Given the description of an element on the screen output the (x, y) to click on. 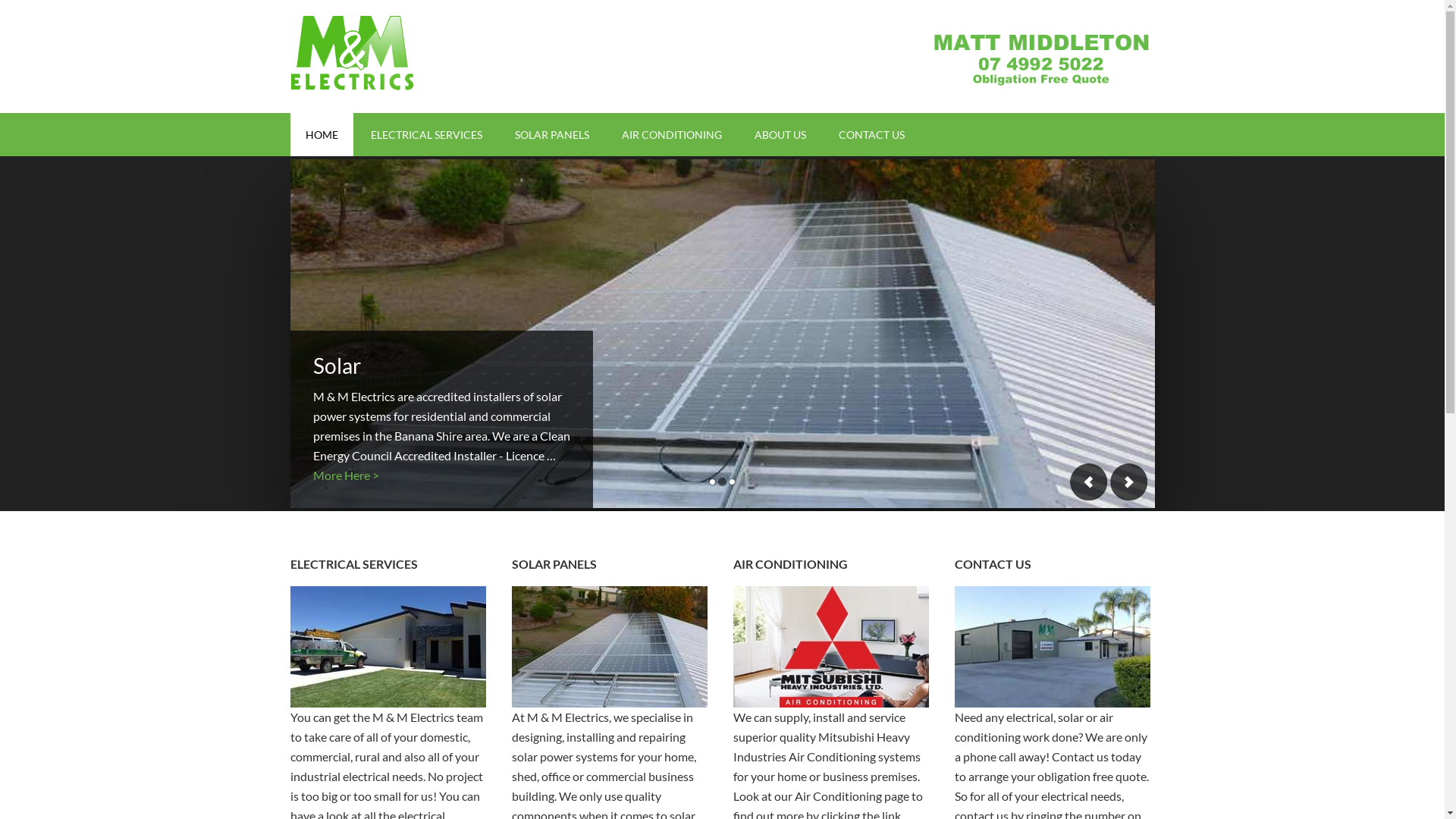
SOLAR PANELS Element type: text (550, 134)
ABOUT US Element type: text (779, 134)
CONTACT US Element type: text (871, 134)
HOME Element type: text (320, 134)
ELECTRICAL SERVICES Element type: text (425, 134)
More Here > Element type: text (345, 474)
M & M ELECTRICS Element type: text (418, 53)
Solar Element type: text (336, 365)
Next Element type: text (1127, 481)
AIR CONDITIONING Element type: text (671, 134)
2 Element type: text (722, 482)
3 Element type: text (732, 482)
1 Element type: text (712, 482)
Previous Element type: text (1088, 481)
